Given the description of an element on the screen output the (x, y) to click on. 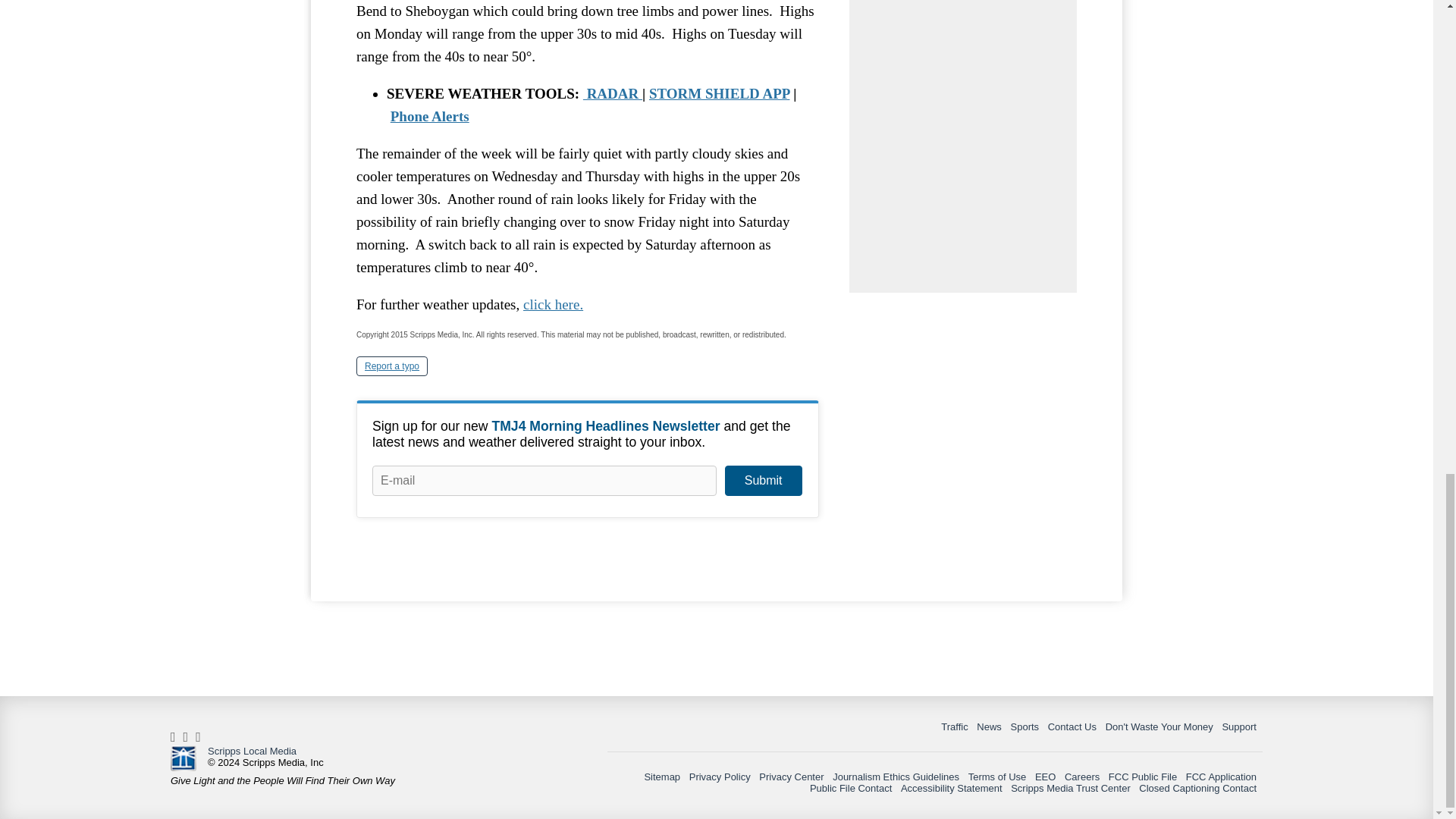
Submit (763, 481)
